Given the description of an element on the screen output the (x, y) to click on. 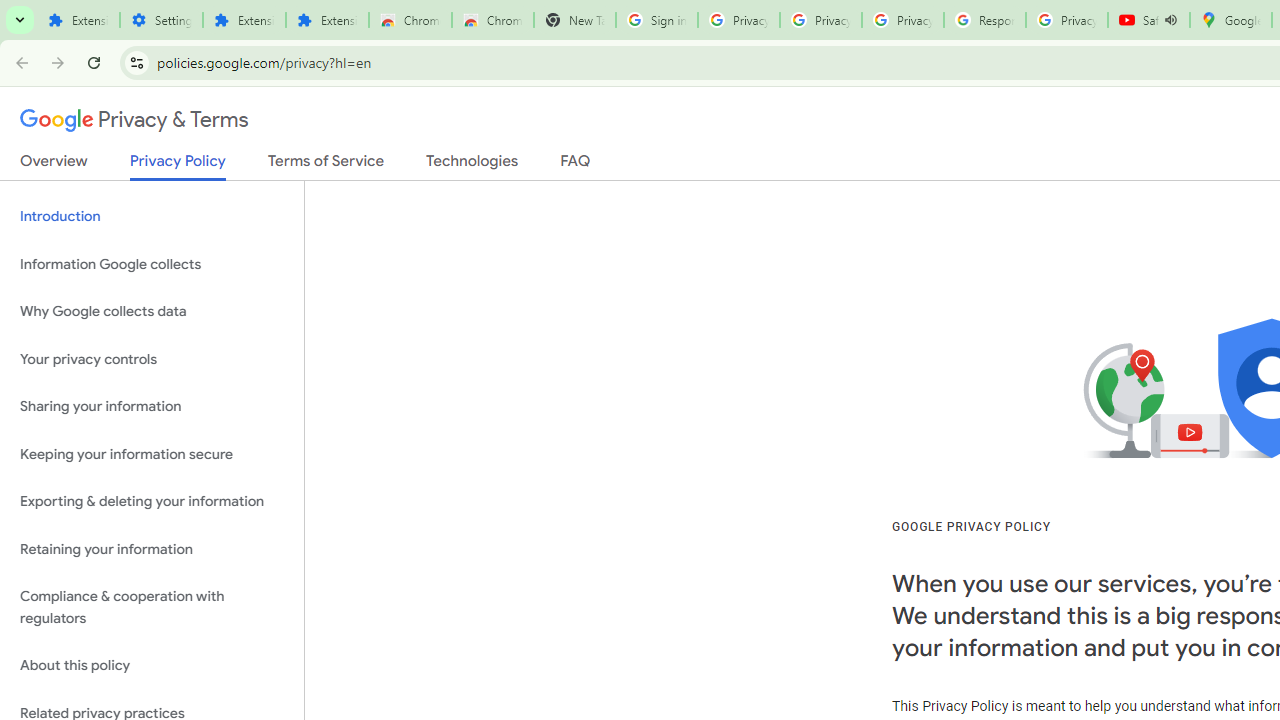
Extensions (326, 20)
Extensions (244, 20)
Information Google collects (152, 263)
